Given the description of an element on the screen output the (x, y) to click on. 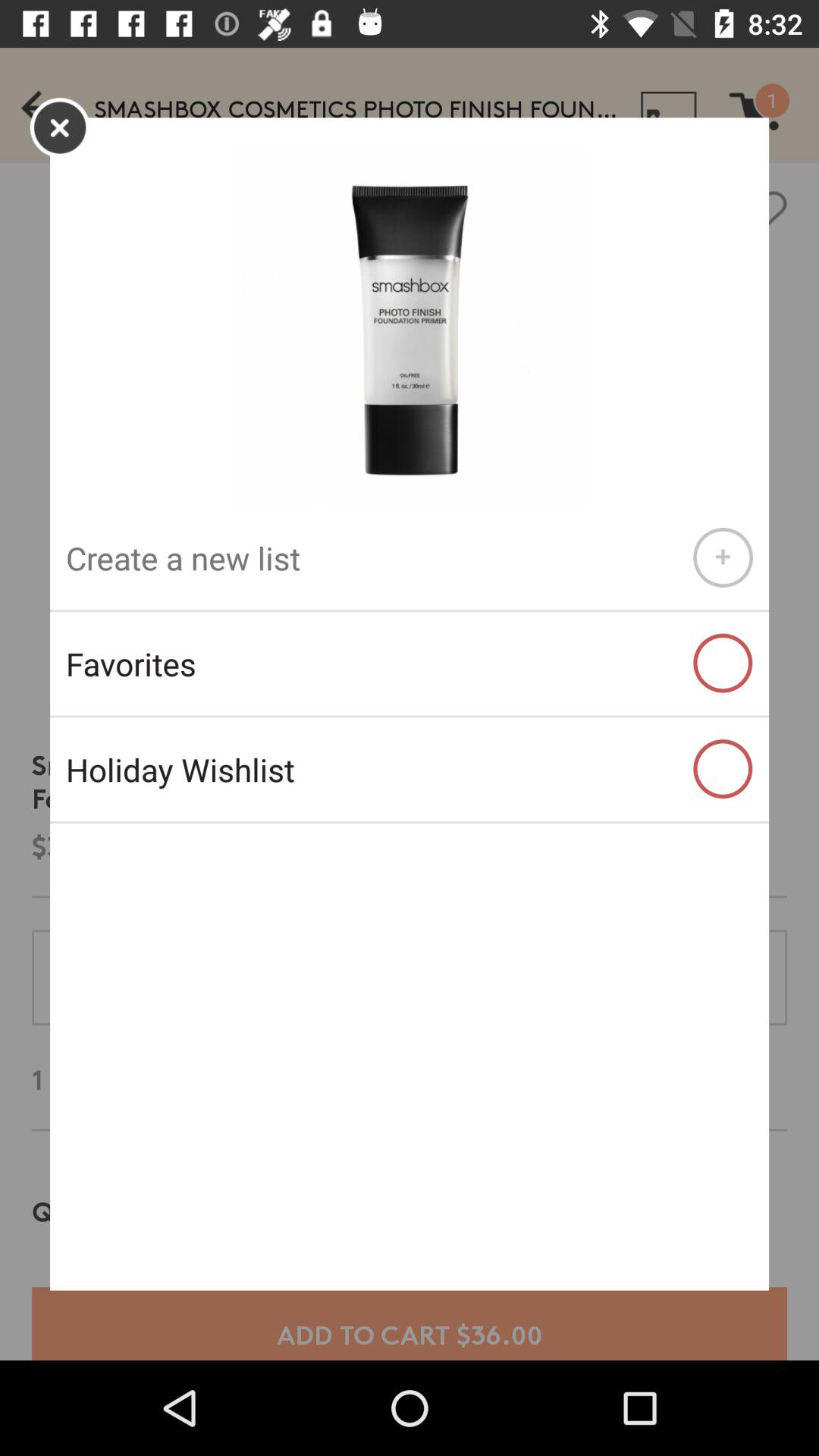
click on the radio button which is to the right side of the holiday wishlist (722, 769)
click cart option (769, 104)
click on the cross symbol (60, 127)
icon right to the text create a new list (722, 558)
